Given the description of an element on the screen output the (x, y) to click on. 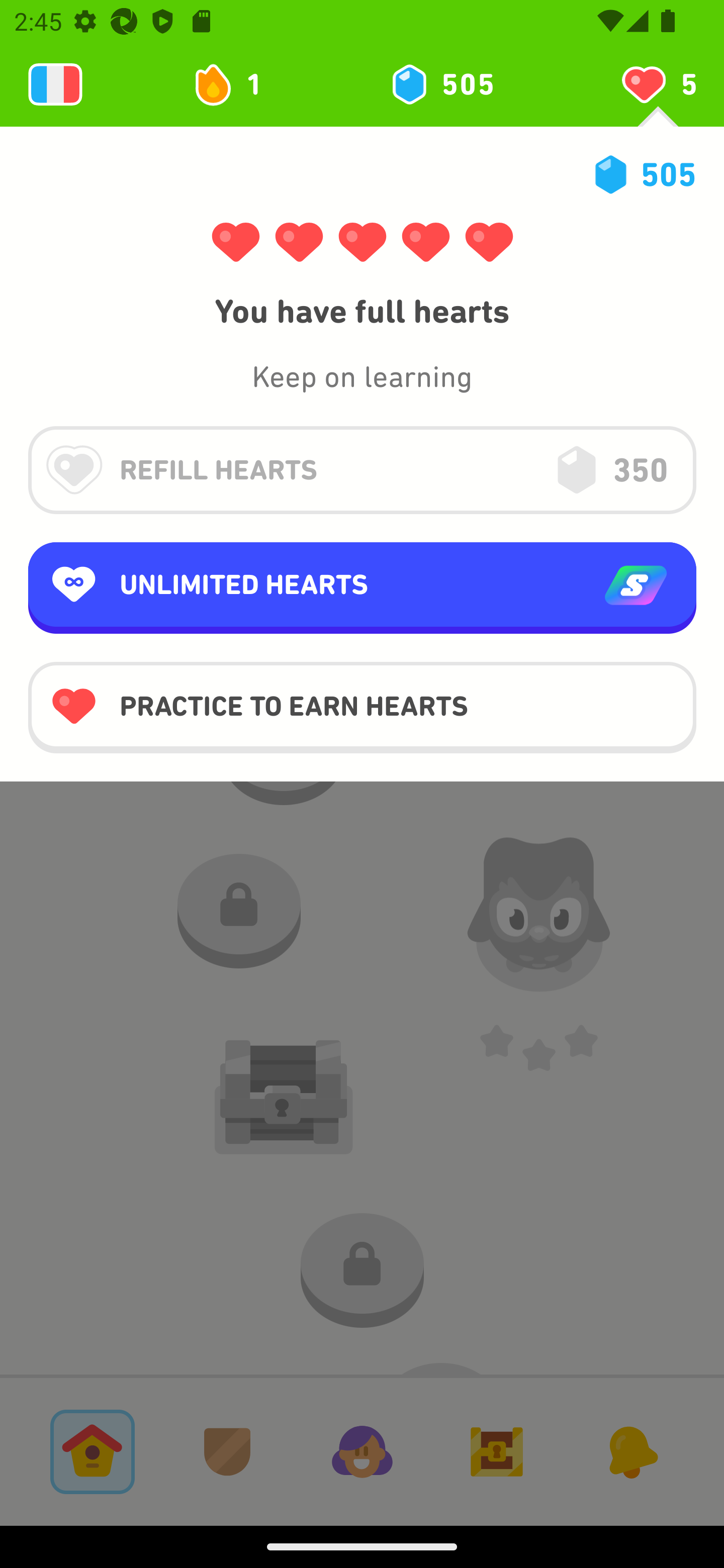
Learning 2131888976 (55, 84)
1 day streak 1 (236, 84)
505 (441, 84)
You have 5 hearts left 5 (657, 84)
UNLIMITED HEARTS (362, 587)
PRACTICE TO EARN HEARTS (362, 706)
